Given the description of an element on the screen output the (x, y) to click on. 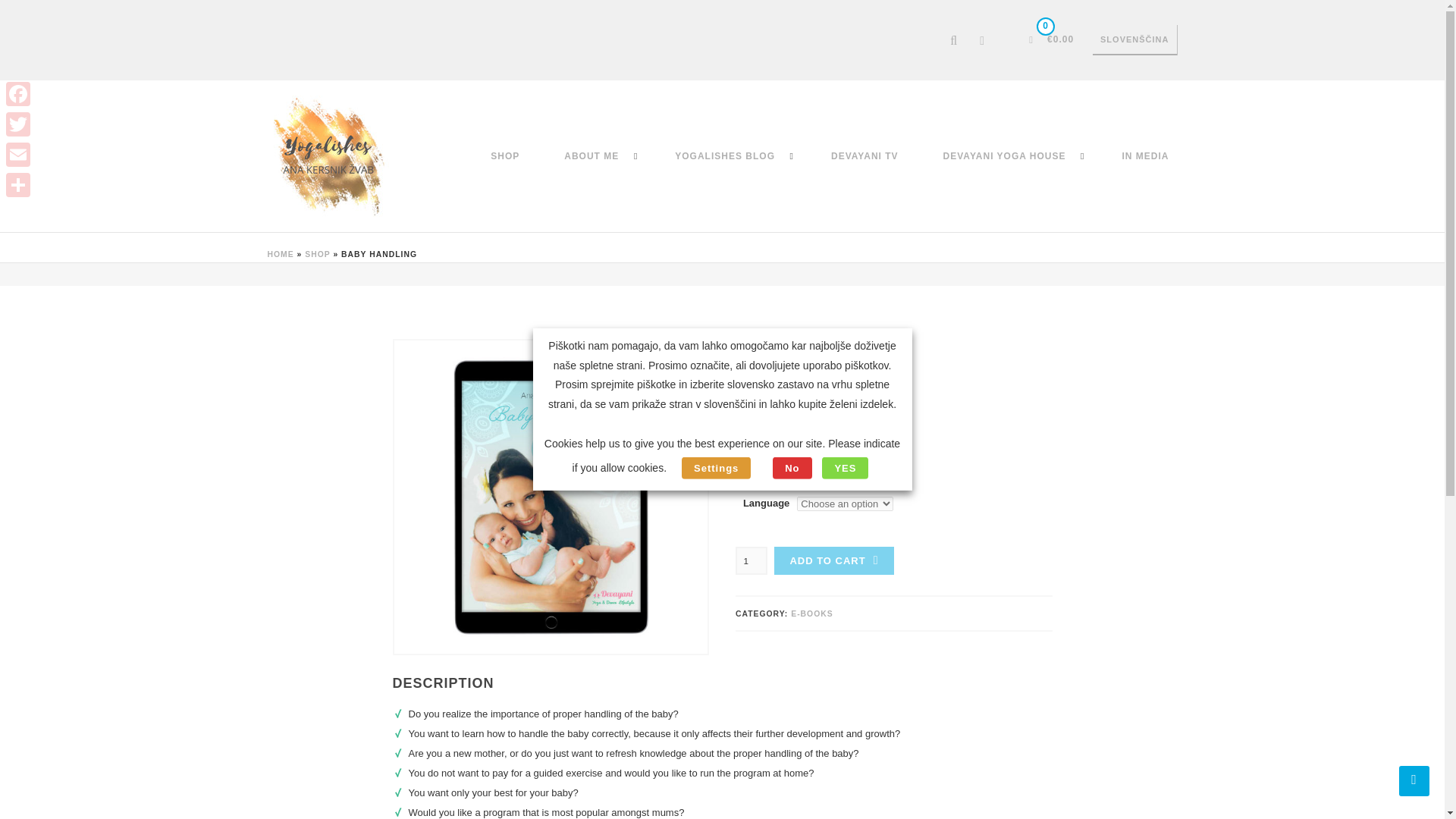
Email (17, 154)
Twitter (17, 123)
ABOUT ME (591, 155)
0 (1030, 40)
YOGALISHES BLOG (724, 155)
E-BOOKS (811, 613)
Search (942, 91)
IN MEDIA (1145, 155)
1 (751, 560)
ADD TO CART (833, 560)
DEVAYANI TV (864, 155)
SHOP (317, 254)
DEVAYANI YOGA HOUSE (1005, 155)
HOME (280, 254)
Facebook (17, 93)
